Given the description of an element on the screen output the (x, y) to click on. 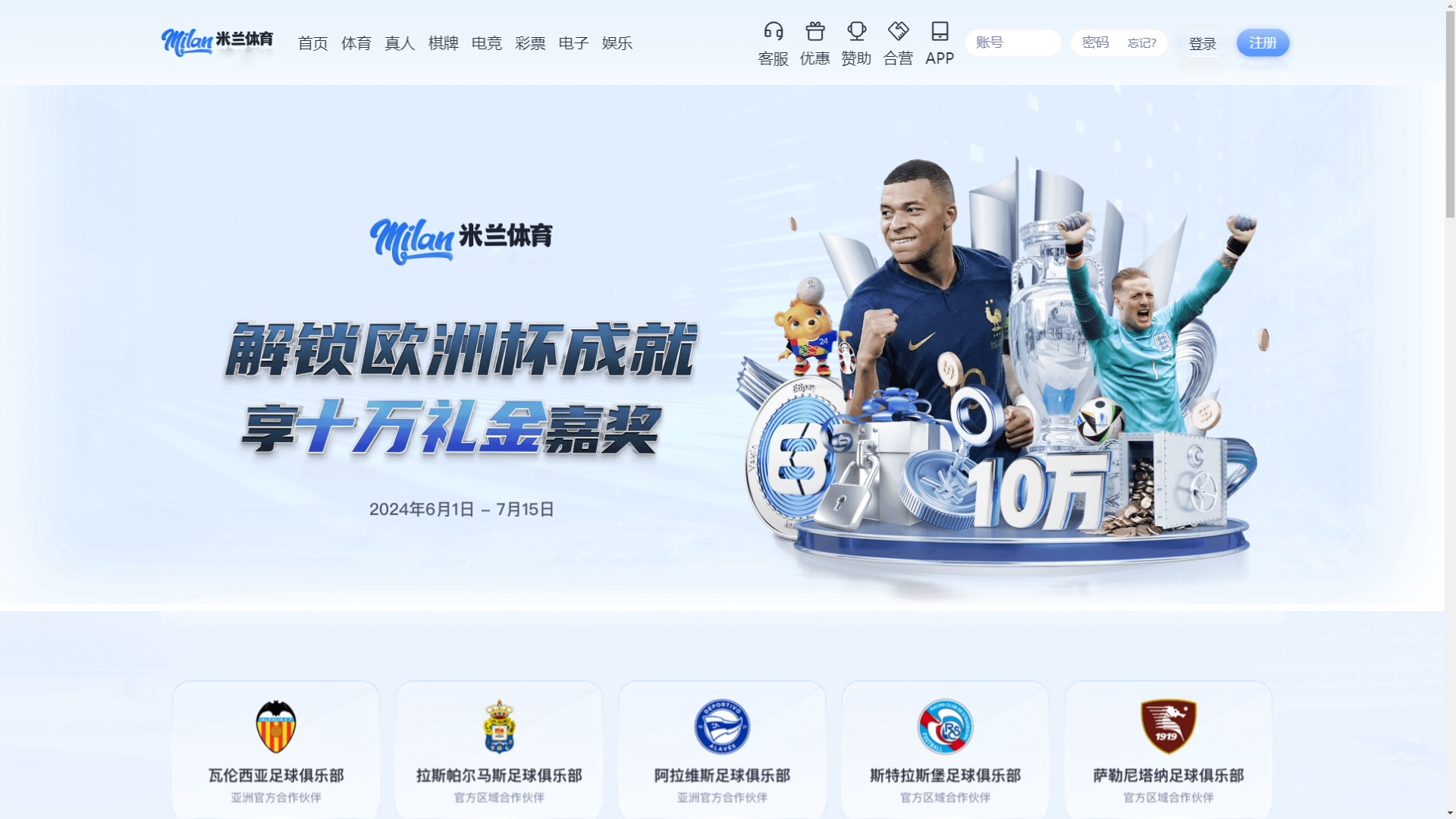
Solutions (352, 84)
Schedule Demo (1214, 31)
